Given the description of an element on the screen output the (x, y) to click on. 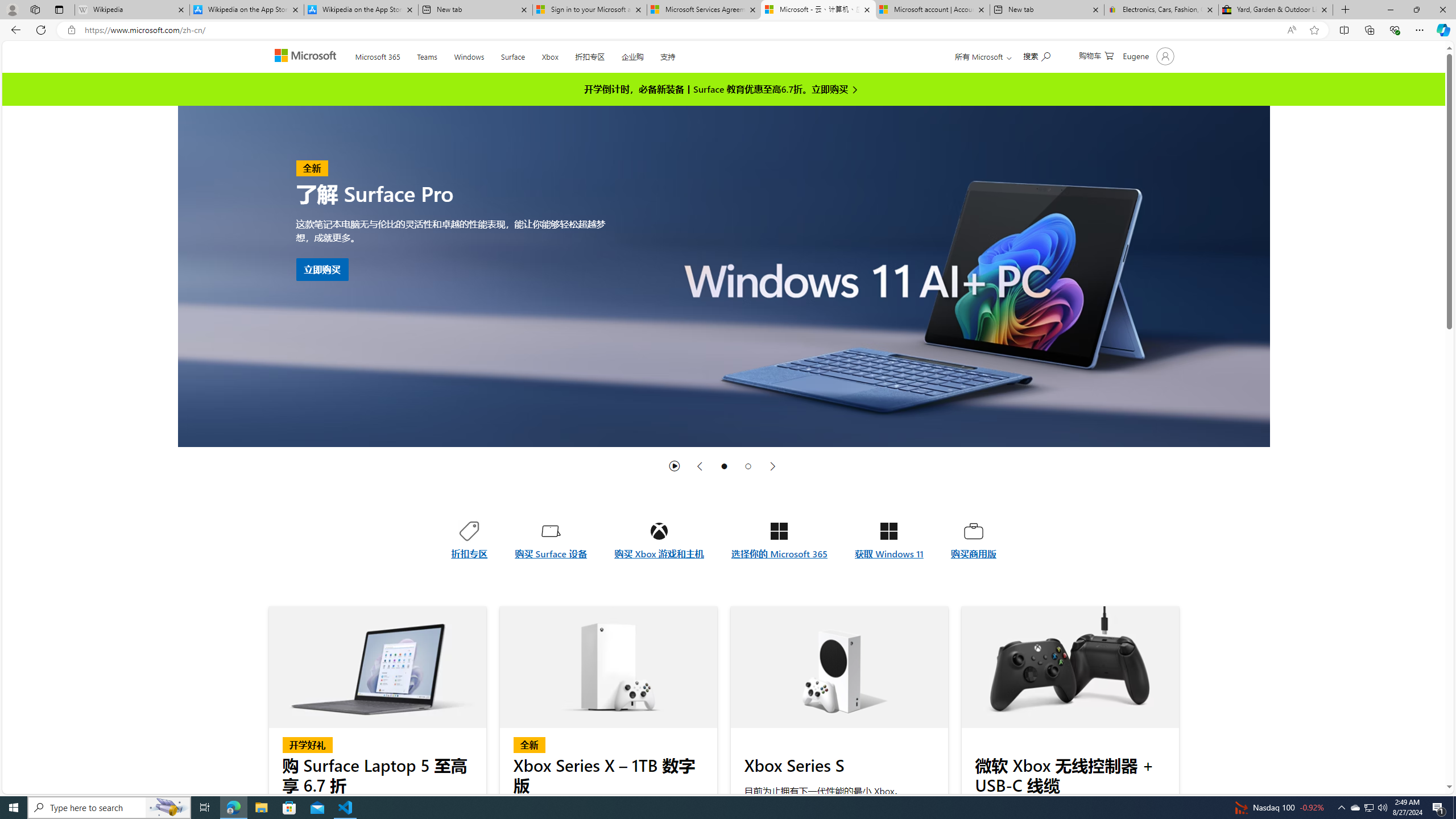
Xbox (550, 54)
Address and search bar (680, 29)
A pair of Xbox Wireless Controllers with USB-C Cable. (1069, 667)
